Given the description of an element on the screen output the (x, y) to click on. 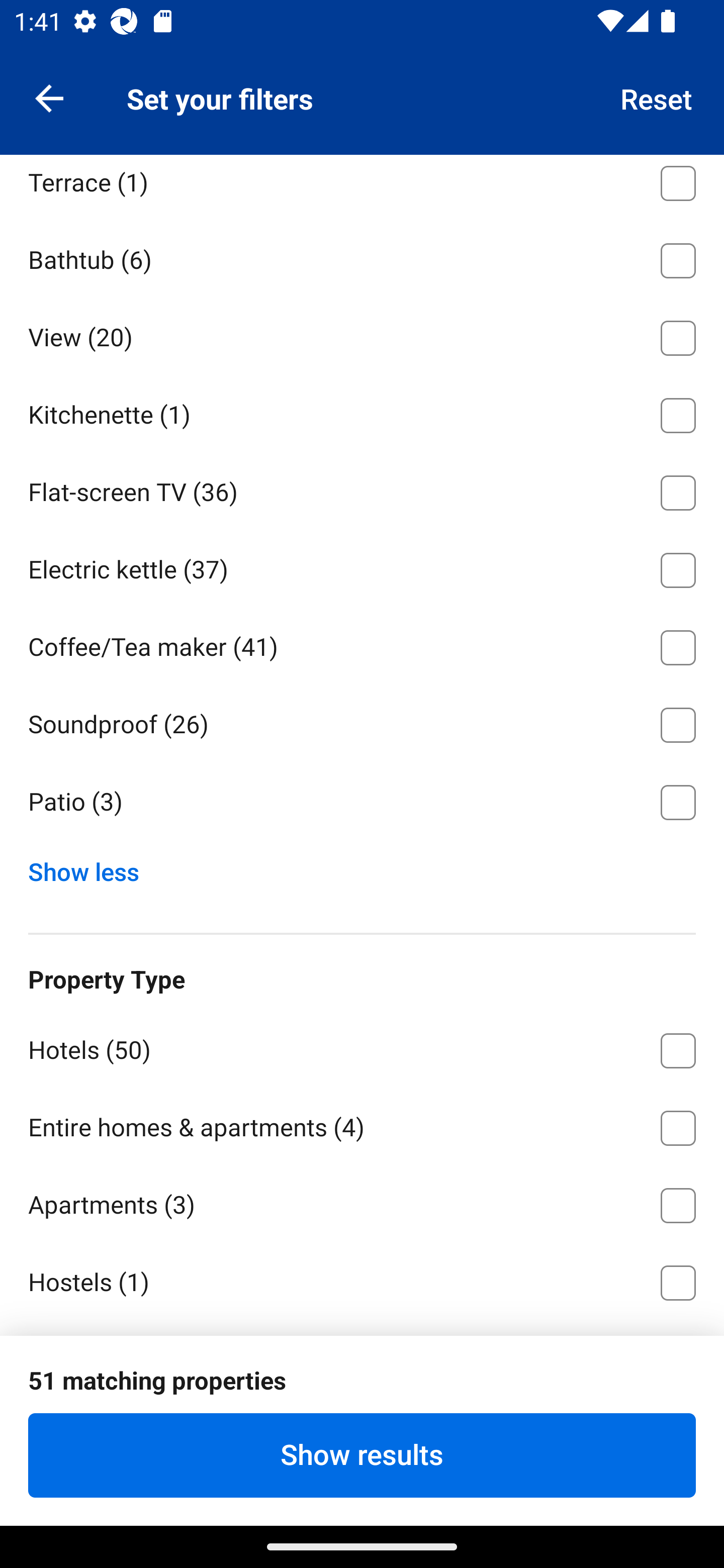
Navigate up (49, 97)
Reset (656, 97)
Washing machine ⁦(4) (361, 102)
Terrace ⁦(1) (361, 186)
Bathtub ⁦(6) (361, 256)
View ⁦(20) (361, 334)
Kitchenette ⁦(1) (361, 412)
Flat-screen TV ⁦(36) (361, 489)
Electric kettle ⁦(37) (361, 566)
Coffee/Tea maker ⁦(41) (361, 644)
Soundproof ⁦(26) (361, 721)
Patio ⁦(3) (361, 802)
Show less (90, 867)
Hotels ⁦(50) (361, 1047)
Entire homes & apartments ⁦(4) (361, 1124)
Apartments ⁦(3) (361, 1201)
Hostels ⁦(1) (361, 1280)
Show results (361, 1454)
